Given the description of an element on the screen output the (x, y) to click on. 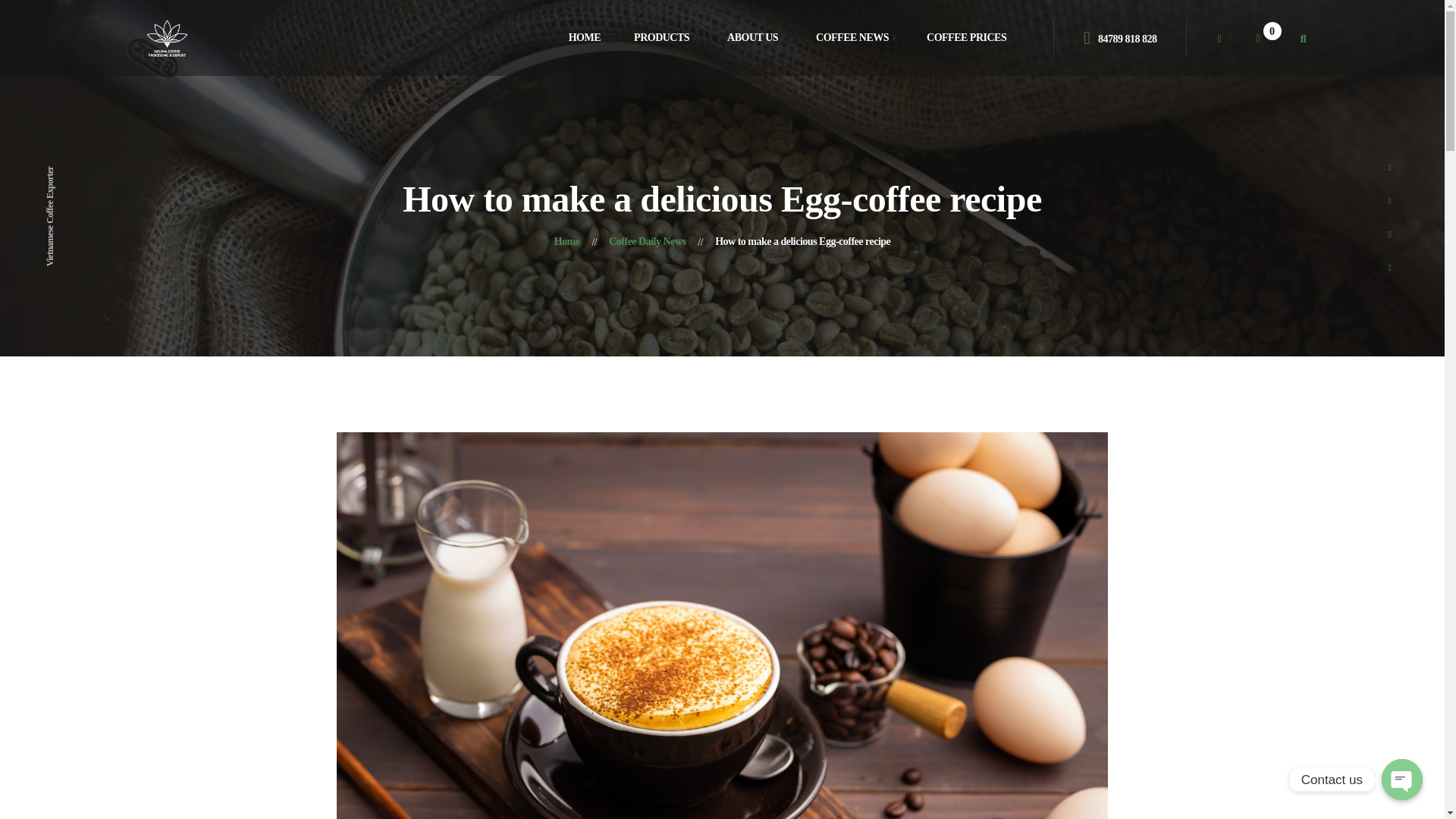
Home (566, 241)
84789 818 828 (1119, 36)
COFFEE NEWS (852, 37)
PRODUCTS (661, 37)
View your shopping cart (1267, 37)
ABOUT US (752, 37)
Go to the Coffee Daily News category archives. (646, 241)
0 (1267, 37)
COFFEE PRICES (966, 37)
Coffee Daily News (646, 241)
